Given the description of an element on the screen output the (x, y) to click on. 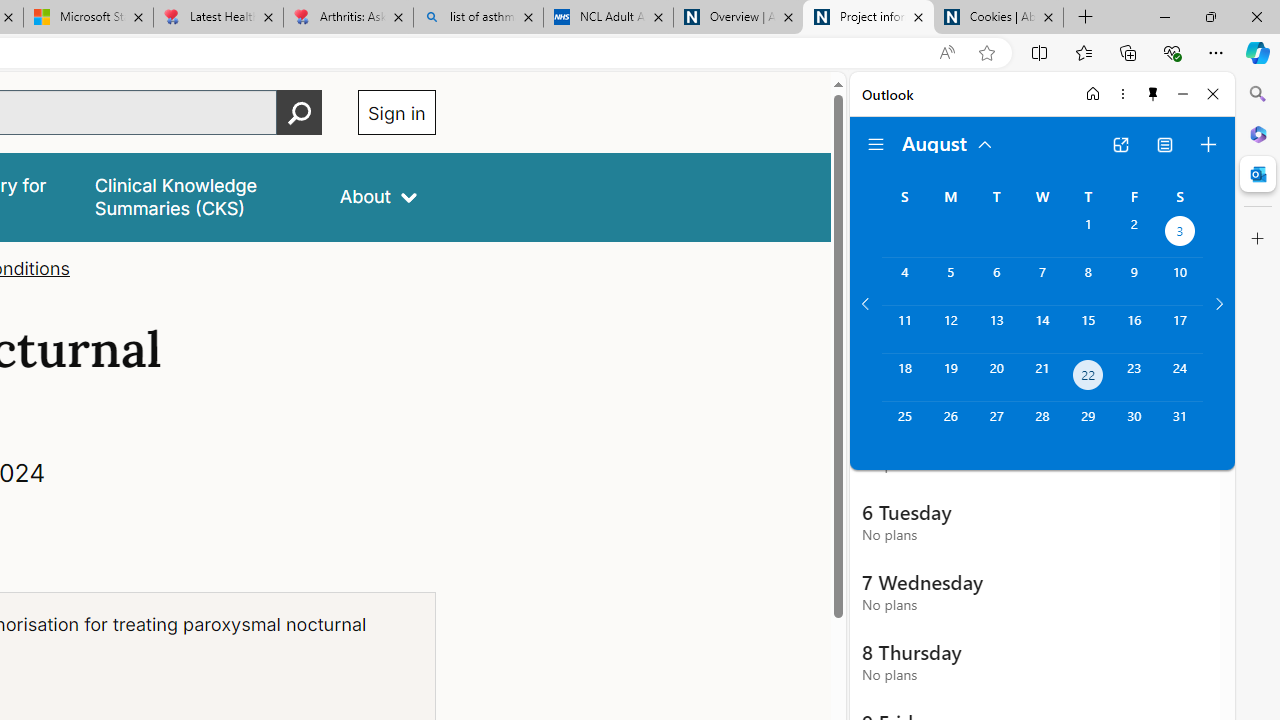
Friday, August 23, 2024.  (1134, 377)
Thursday, August 22, 2024. Today.  (1088, 377)
Tuesday, August 27, 2024.  (996, 425)
Search (1258, 94)
Saturday, August 31, 2024.  (1180, 425)
Copilot (Ctrl+Shift+.) (1258, 52)
Unpin side pane (1153, 93)
NCL Adult Asthma Inhaler Choice Guideline (608, 17)
Friday, August 9, 2024.  (1134, 281)
Microsoft Start (88, 17)
Thursday, August 29, 2024.  (1088, 425)
Tuesday, August 13, 2024.  (996, 329)
Saturday, August 10, 2024.  (1180, 281)
Split screen (1039, 52)
list of asthma inhalers uk - Search (477, 17)
